Given the description of an element on the screen output the (x, y) to click on. 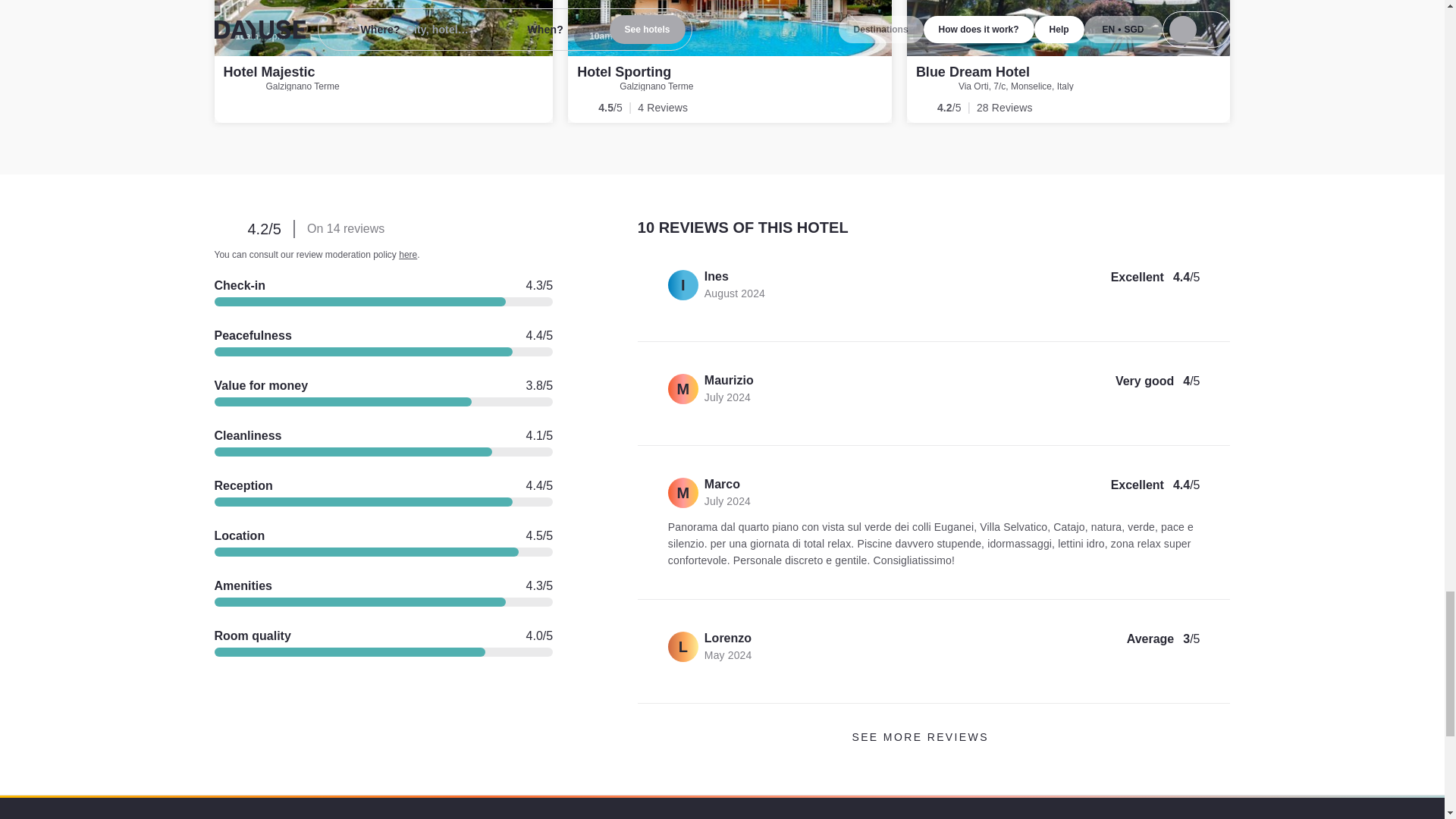
Blue Dream Hotel (1068, 61)
Hotel Sporting (729, 61)
Hotel Majestic (383, 61)
Hotel Majestic (268, 71)
Hotel Sporting (623, 71)
Blue Dream Hotel (972, 71)
